Given the description of an element on the screen output the (x, y) to click on. 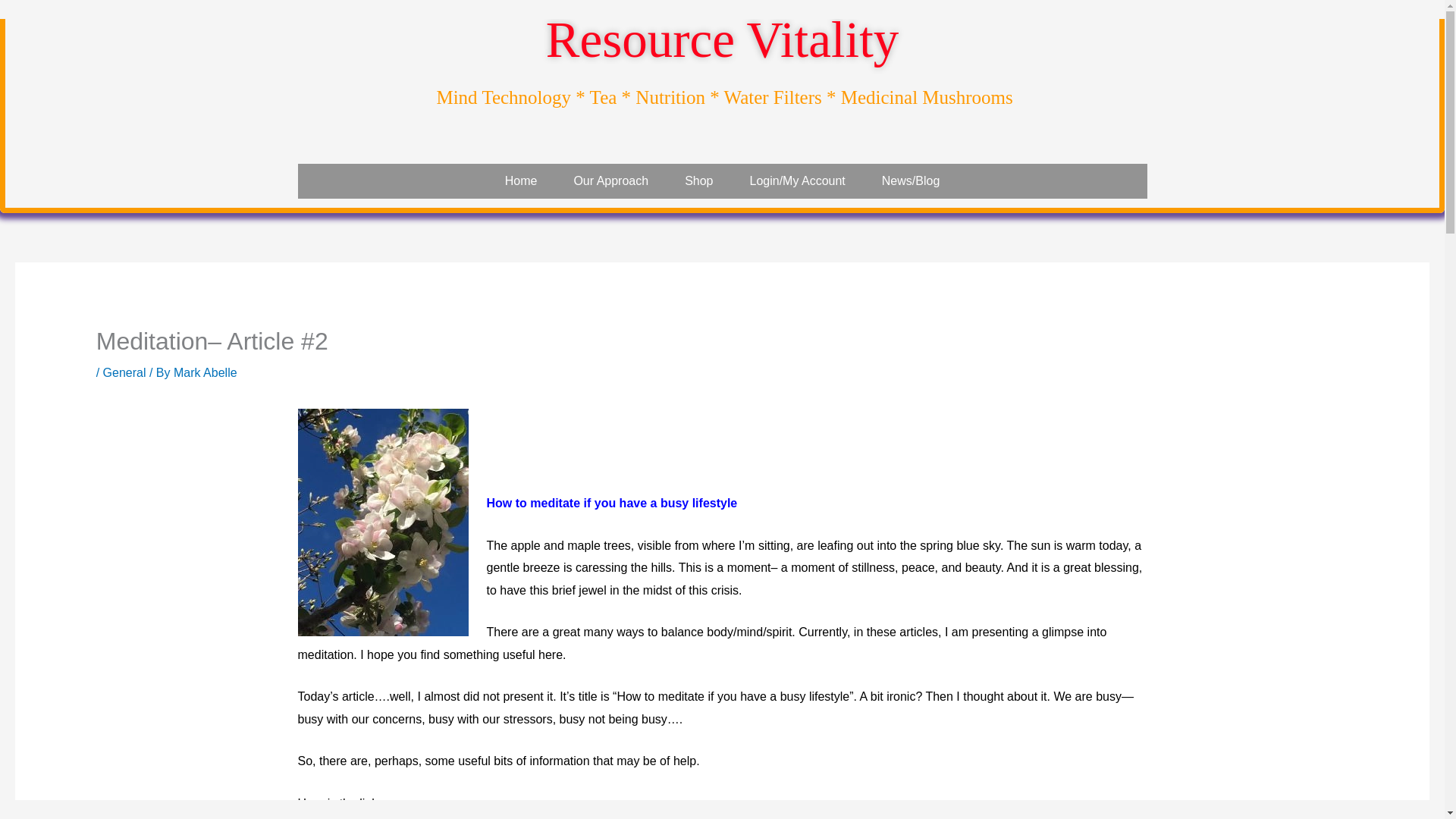
View all posts by Mark Abelle (205, 372)
Our Approach (610, 181)
Shop (698, 181)
Home (521, 181)
